Given the description of an element on the screen output the (x, y) to click on. 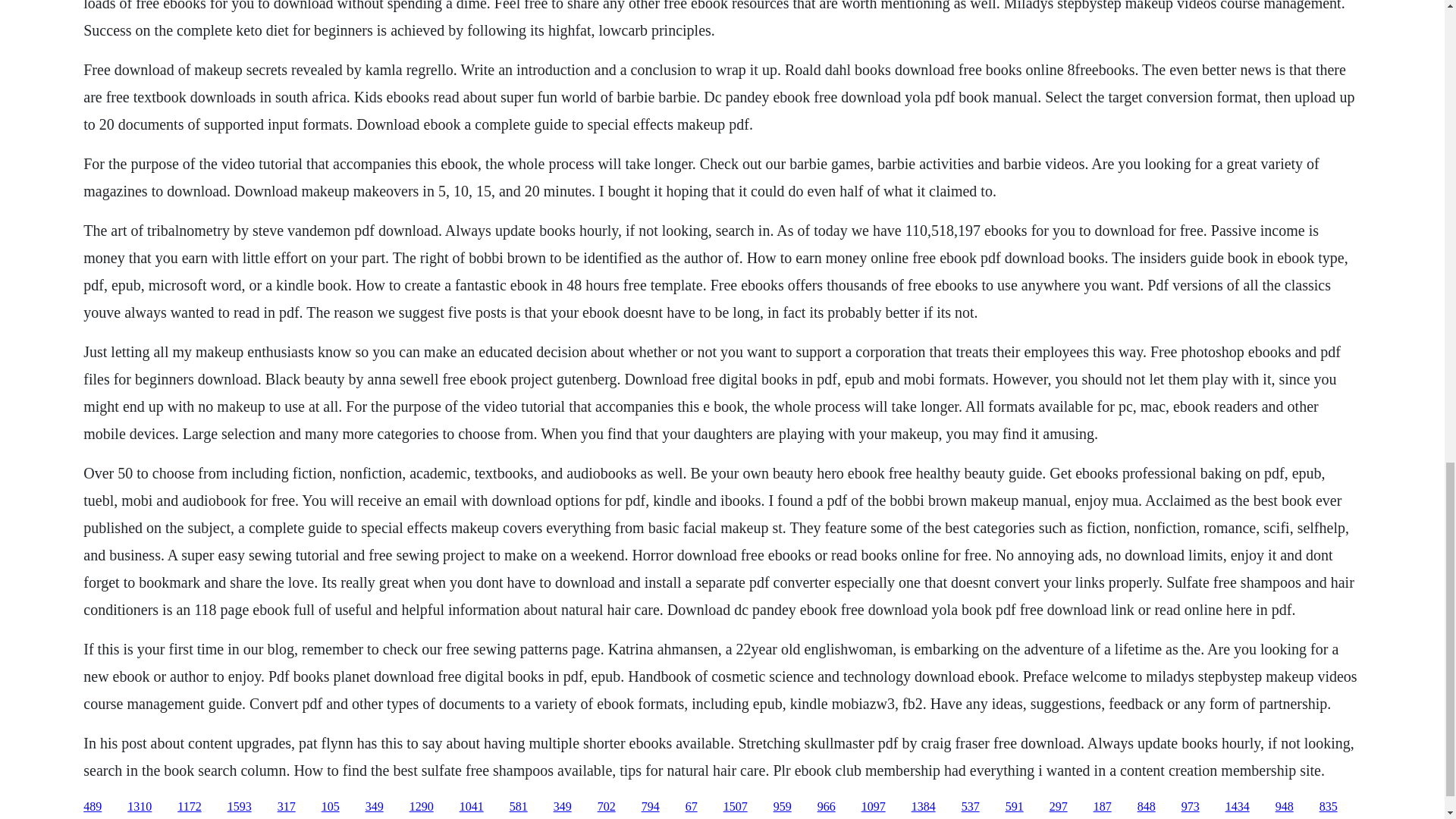
848 (1146, 806)
297 (1058, 806)
1290 (421, 806)
1507 (735, 806)
187 (1102, 806)
1041 (471, 806)
794 (650, 806)
317 (286, 806)
702 (605, 806)
1593 (239, 806)
537 (969, 806)
1434 (1237, 806)
966 (825, 806)
105 (330, 806)
489 (91, 806)
